Given the description of an element on the screen output the (x, y) to click on. 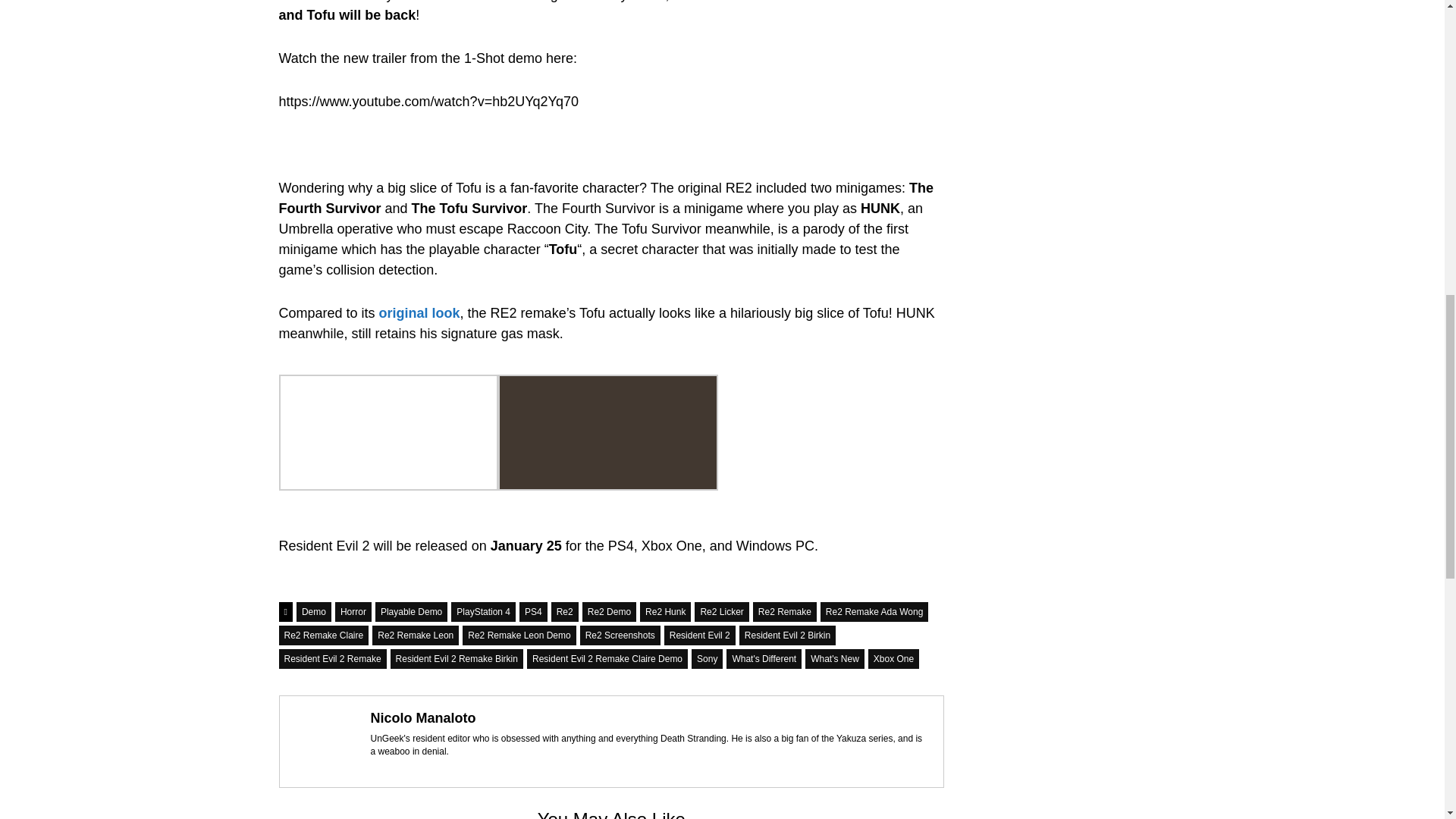
Playable Demo (410, 611)
Re2 (564, 611)
original look (419, 313)
Re2 Remake Ada Wong (874, 611)
Demo (314, 611)
PS4 (533, 611)
Re2 Remake (784, 611)
Re2 Remake Claire (324, 635)
Re2 Remake Leon Demo (519, 635)
Horror (352, 611)
